Given the description of an element on the screen output the (x, y) to click on. 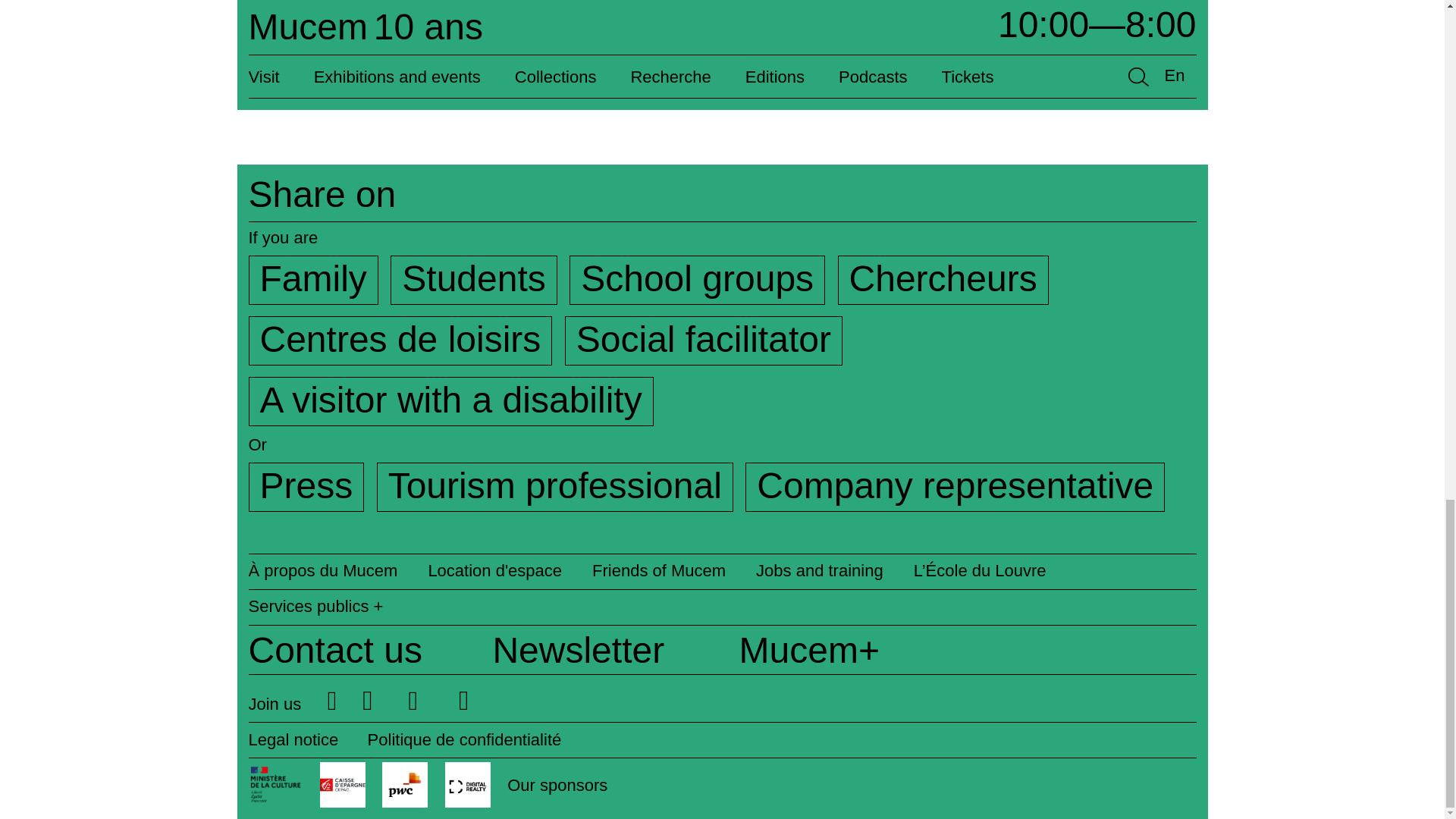
Presse (306, 486)
Groupe scolaire (697, 279)
En situation de handicap (450, 400)
Relais du champ social (703, 340)
Famille (313, 279)
